Given the description of an element on the screen output the (x, y) to click on. 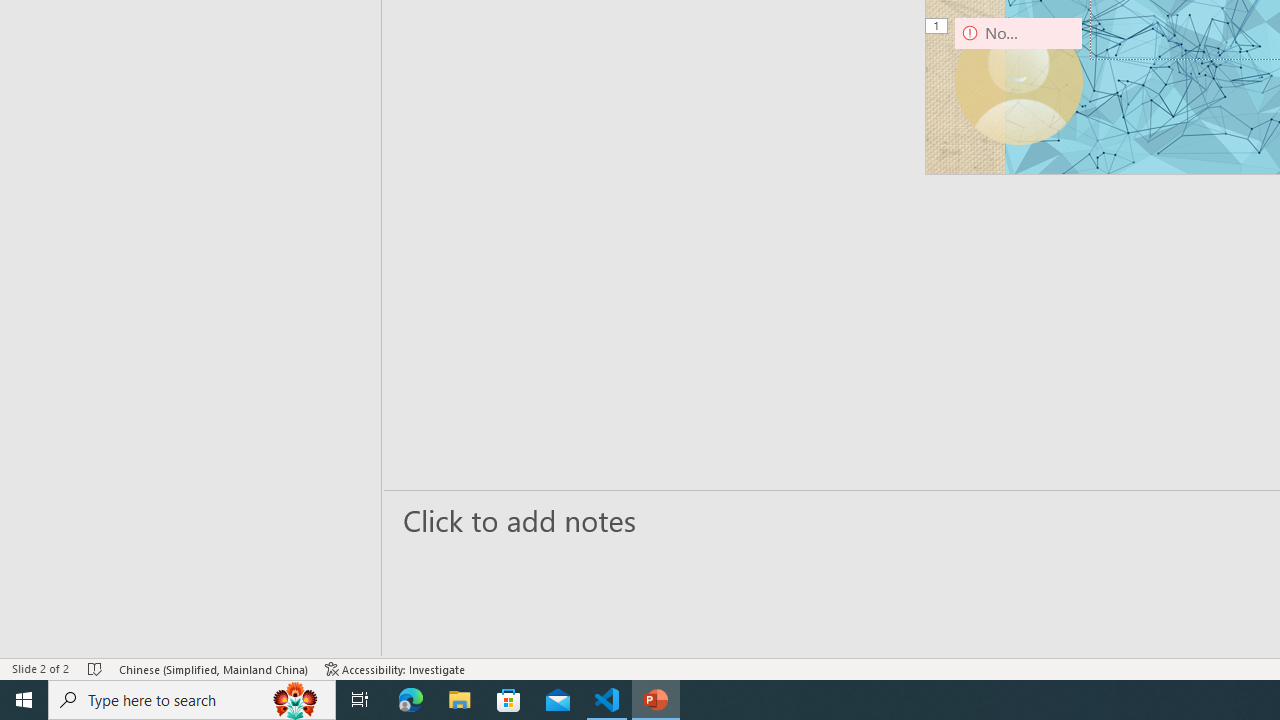
Camera 9, No camera detected. (1018, 80)
Animation, sequence 1, on Camera 9 (938, 27)
